Given the description of an element on the screen output the (x, y) to click on. 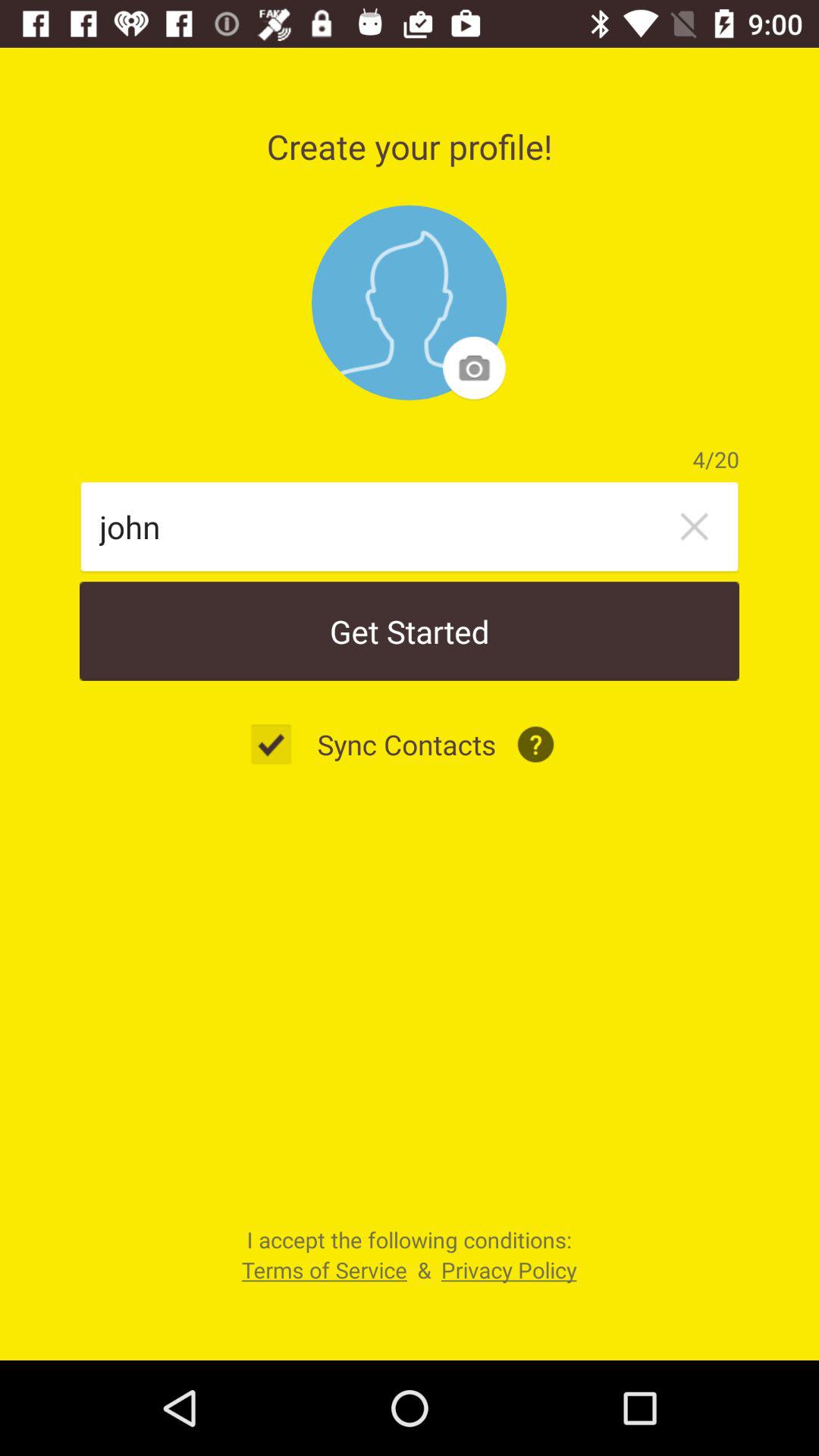
add photo (408, 302)
